Given the description of an element on the screen output the (x, y) to click on. 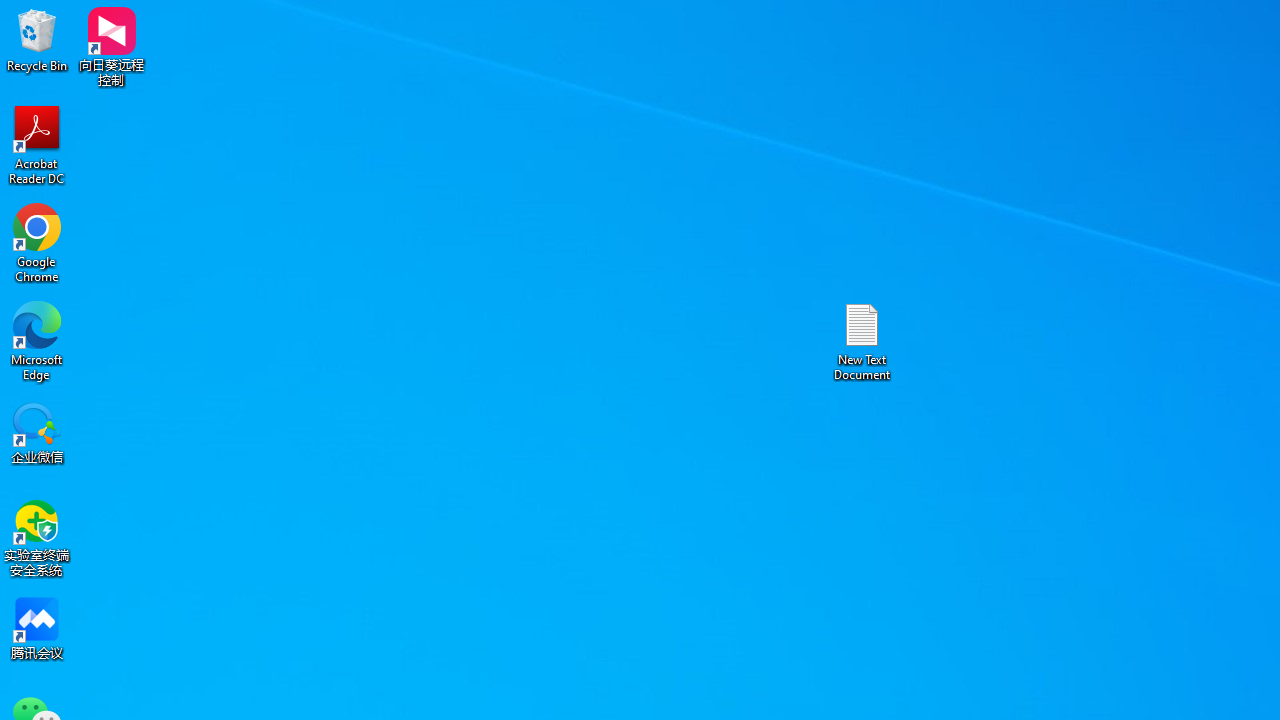
Acrobat Reader DC (37, 144)
Google Chrome (37, 242)
Recycle Bin (37, 39)
New Text Document (861, 340)
Microsoft Edge (37, 340)
